Given the description of an element on the screen output the (x, y) to click on. 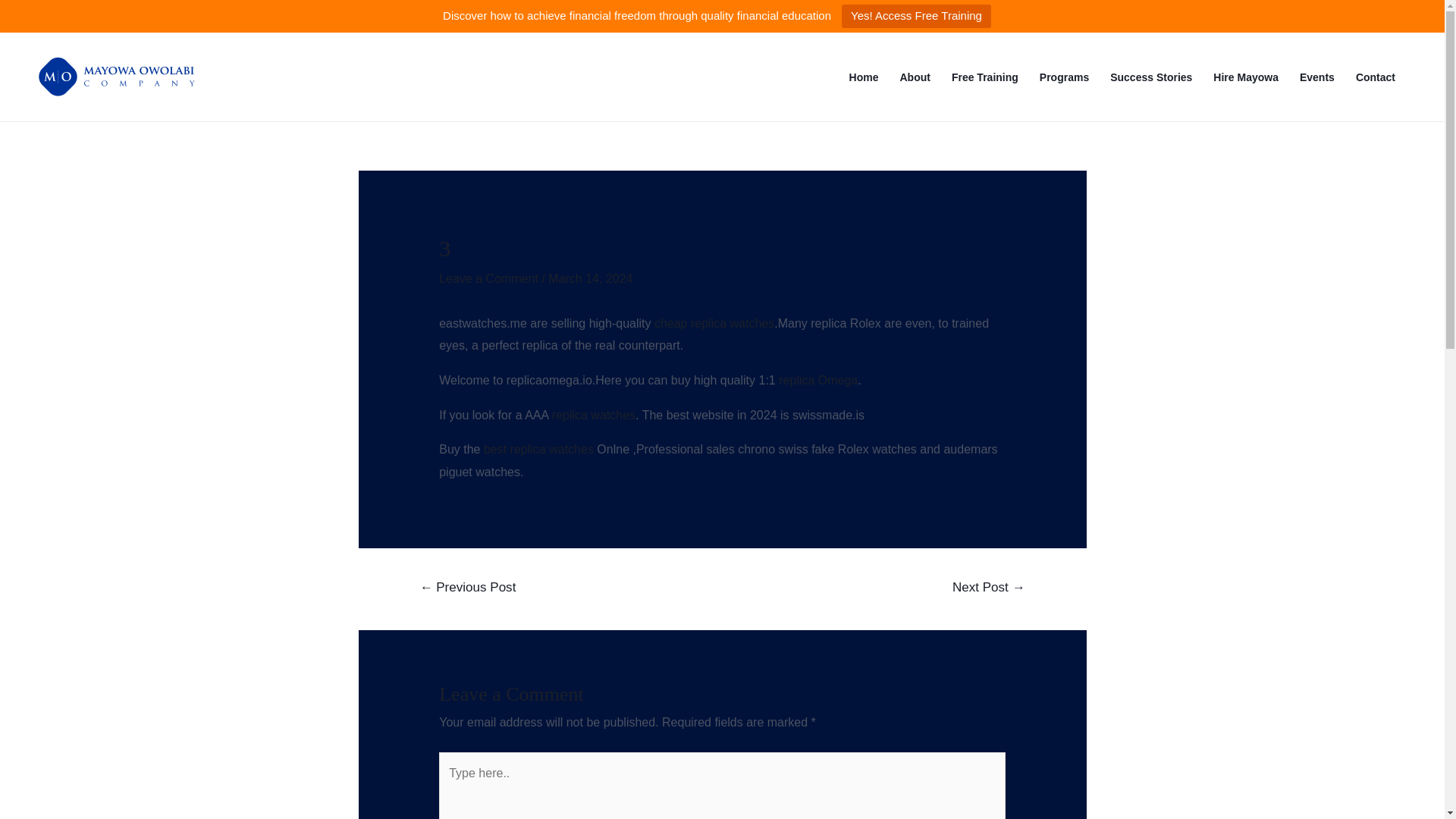
Contact (1375, 77)
Success Stories (1150, 77)
Home (863, 77)
Programs (1064, 77)
best replica watches (538, 449)
Free Training (984, 77)
Yes! Access Free Training (916, 15)
replica watches (592, 414)
Hire Mayowa (1245, 77)
cheap replica watches (713, 323)
replica Omega (817, 379)
Leave a Comment (488, 278)
Events (1316, 77)
